Given the description of an element on the screen output the (x, y) to click on. 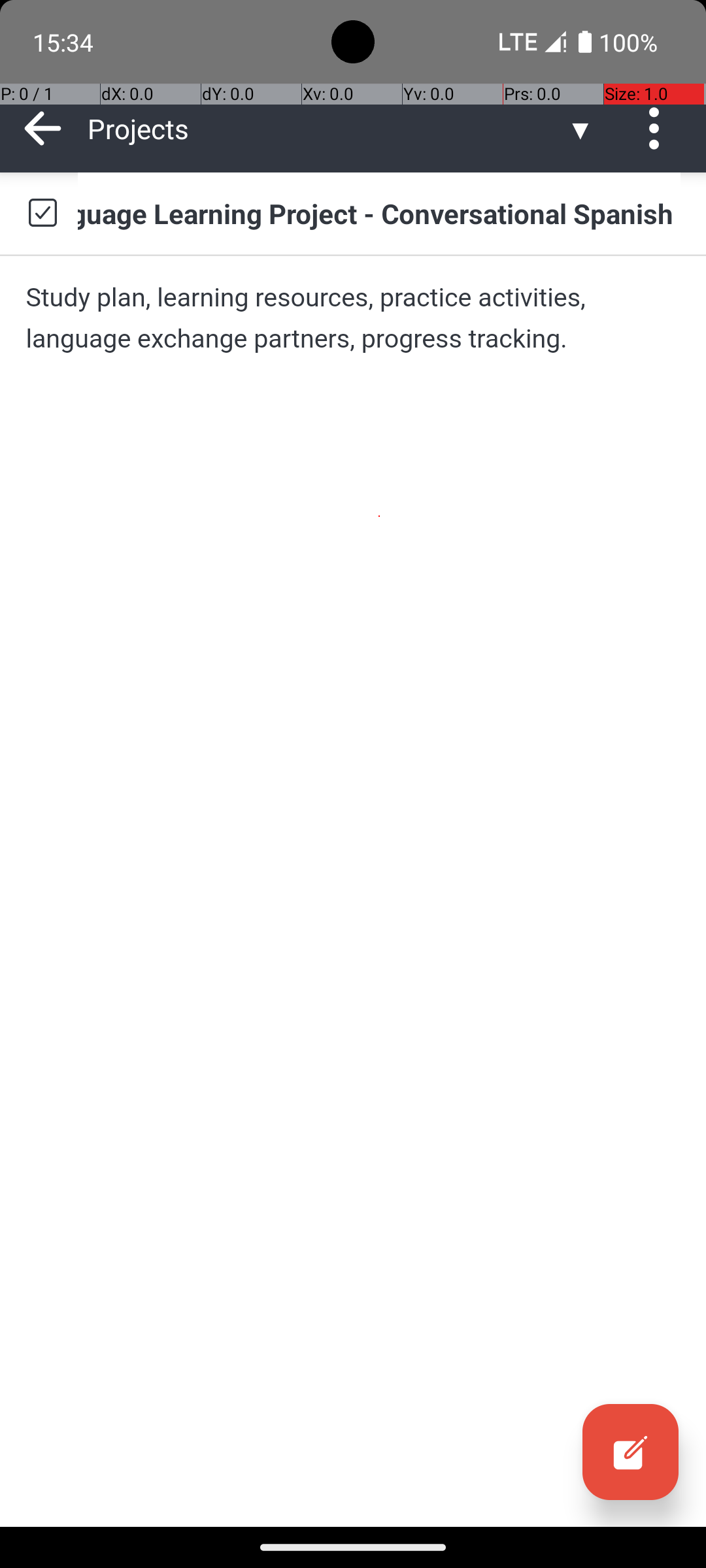
Language Learning Project - Conversational Spanish Element type: android.widget.EditText (378, 213)
Study plan, learning resources, practice activities, language exchange partners, progress tracking. Element type: android.widget.TextView (352, 317)
